Given the description of an element on the screen output the (x, y) to click on. 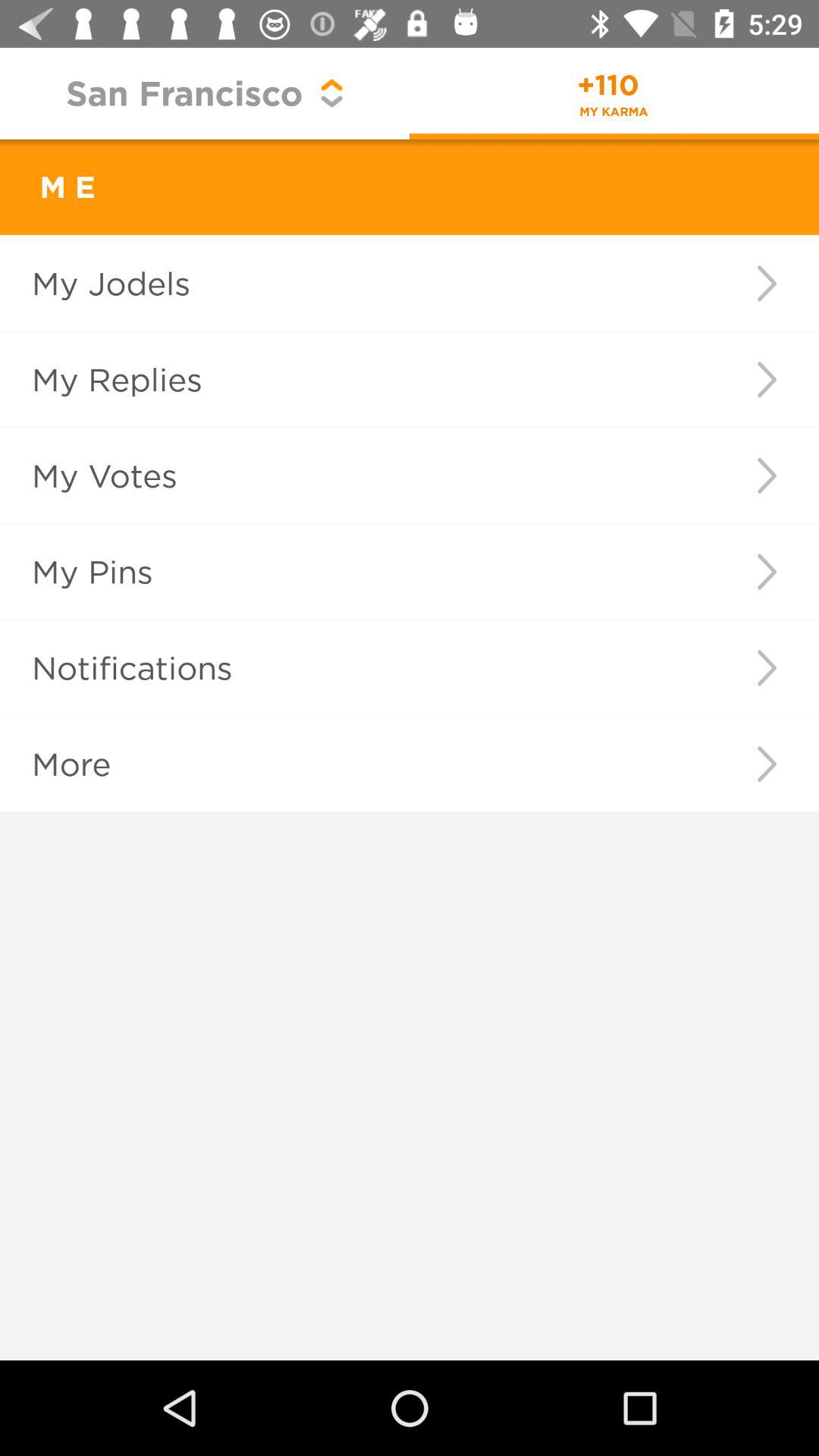
tap the my votes item (351, 475)
